Given the description of an element on the screen output the (x, y) to click on. 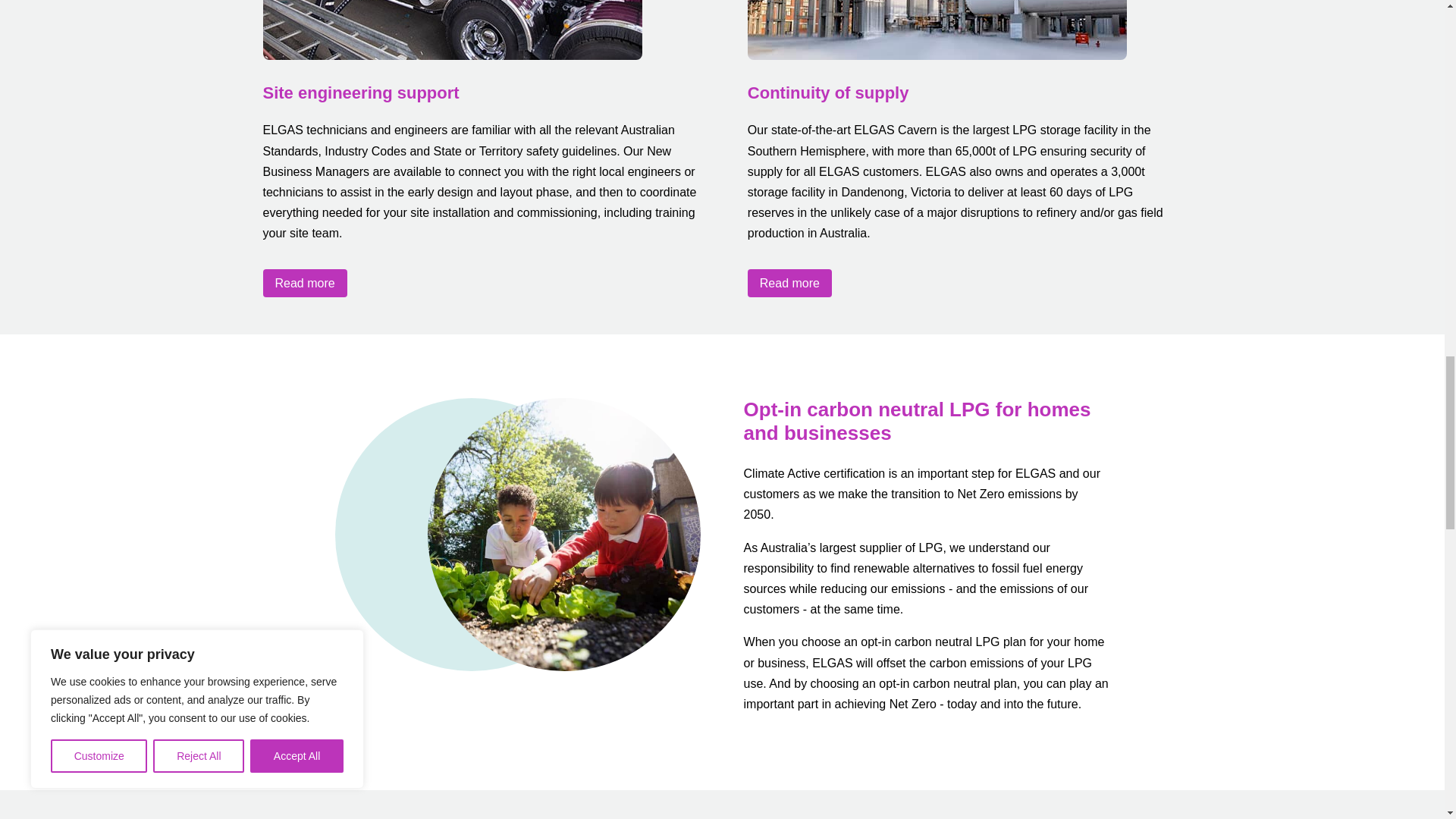
site-engineering-2 (452, 29)
